Given the description of an element on the screen output the (x, y) to click on. 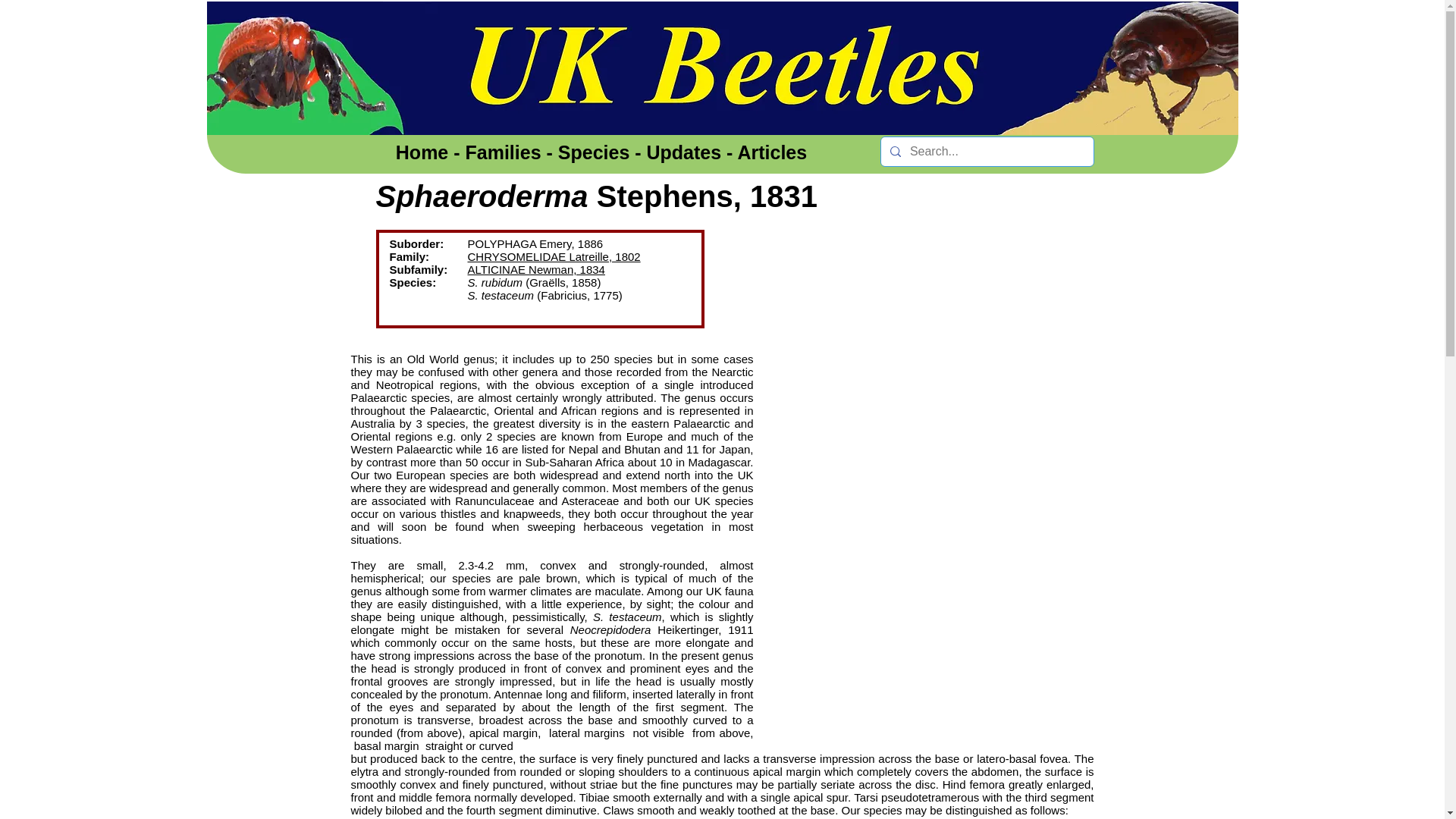
Families (503, 151)
Home (422, 151)
ALTICINAE Newman, 1834 (535, 269)
Species (593, 151)
Articles (771, 151)
Updates (684, 151)
CHRYSOMELIDAE Latreille, 1802 (553, 256)
